Given the description of an element on the screen output the (x, y) to click on. 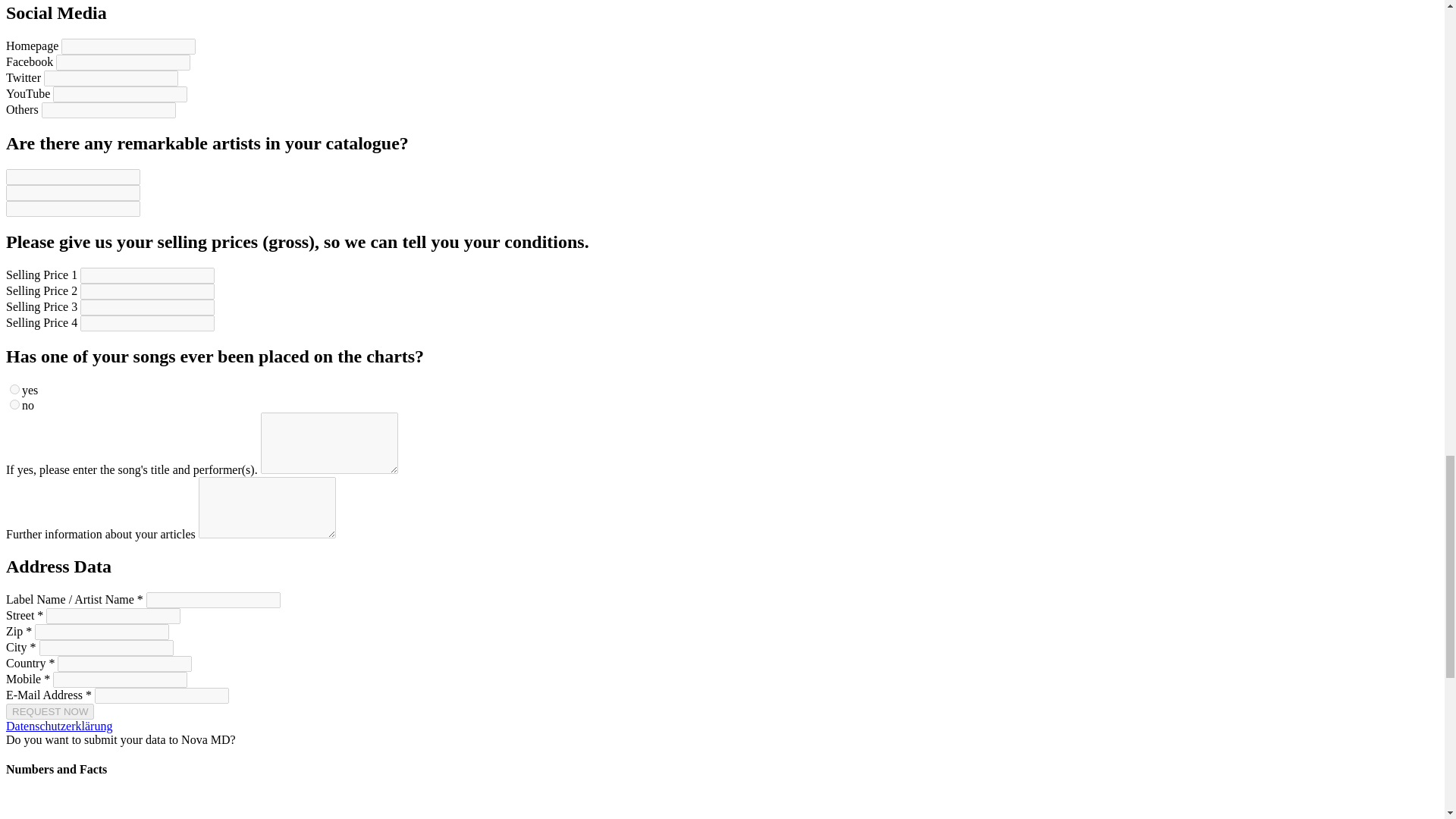
REQUEST NOW (49, 711)
